Given the description of an element on the screen output the (x, y) to click on. 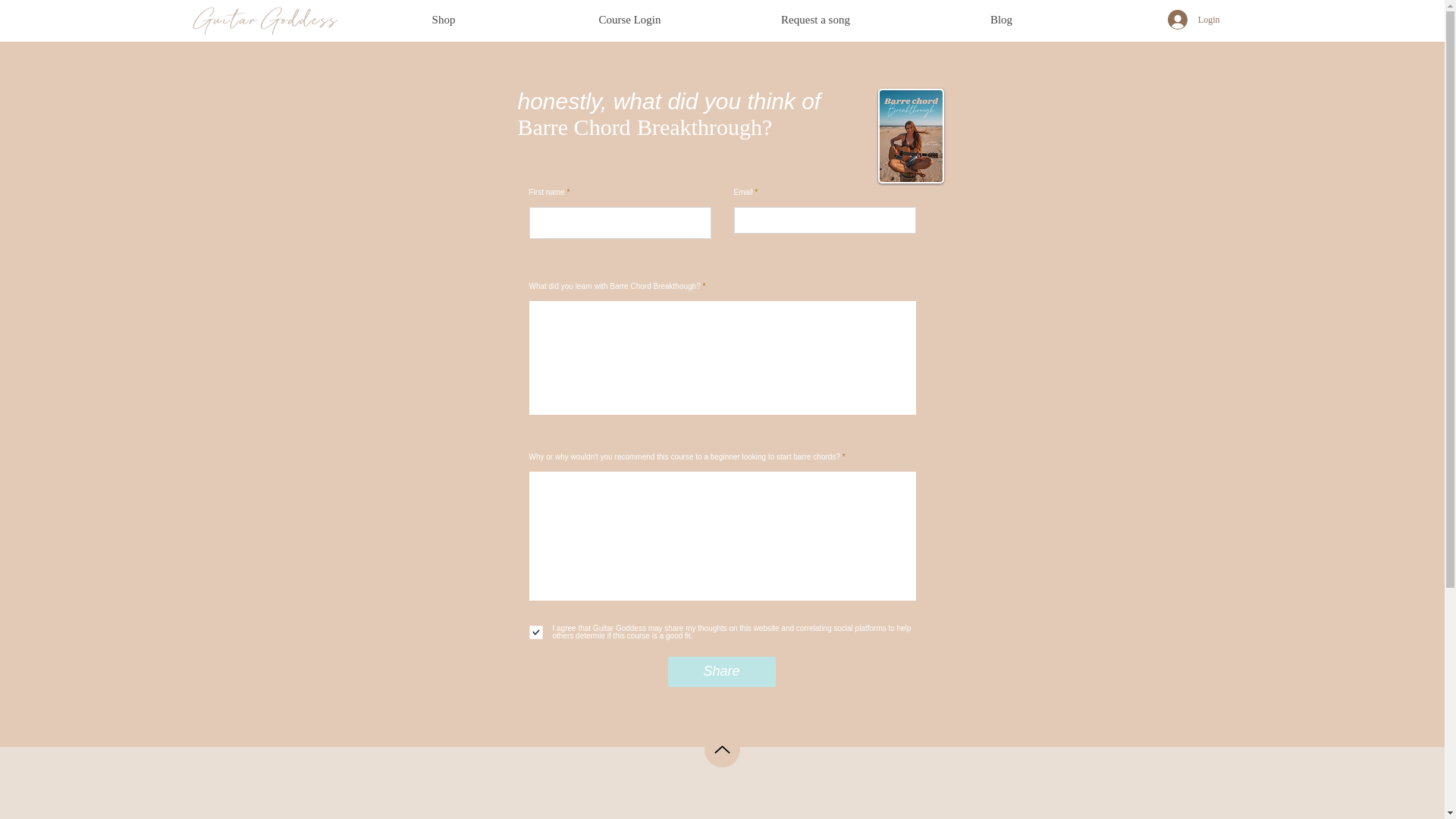
Login (1193, 19)
Request a song (814, 20)
Shop (426, 817)
Blog (1001, 20)
Course Login (629, 20)
Shop (442, 20)
Share (720, 671)
